Given the description of an element on the screen output the (x, y) to click on. 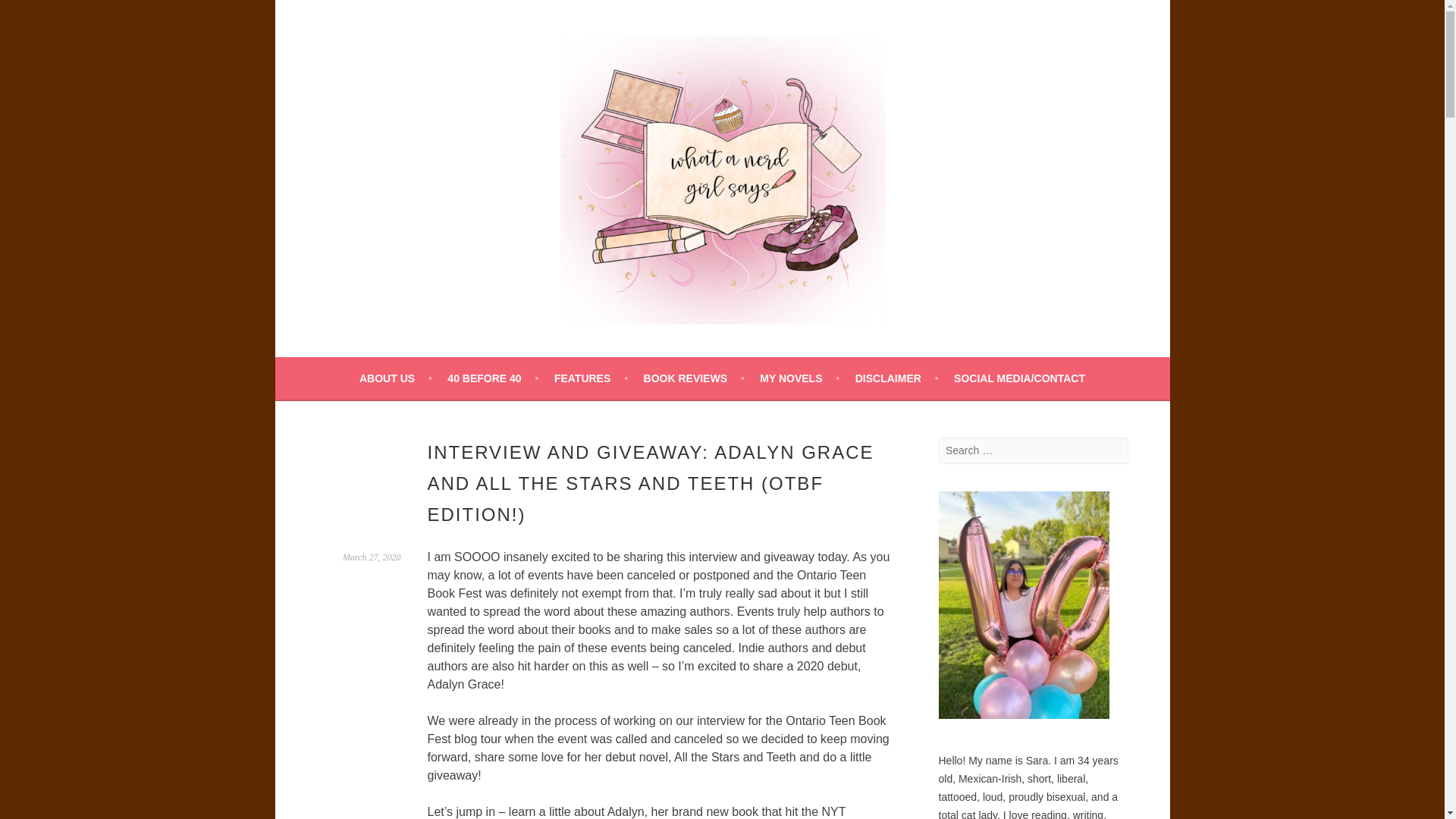
What A Nerd Girl Says (498, 365)
DISCLAIMER (897, 378)
WHAT A NERD GIRL SAYS (498, 365)
FEATURES (590, 378)
ABOUT US (395, 378)
40 BEFORE 40 (492, 378)
March 27, 2020 (371, 557)
BOOK REVIEWS (693, 378)
MY NOVELS (800, 378)
